Given the description of an element on the screen output the (x, y) to click on. 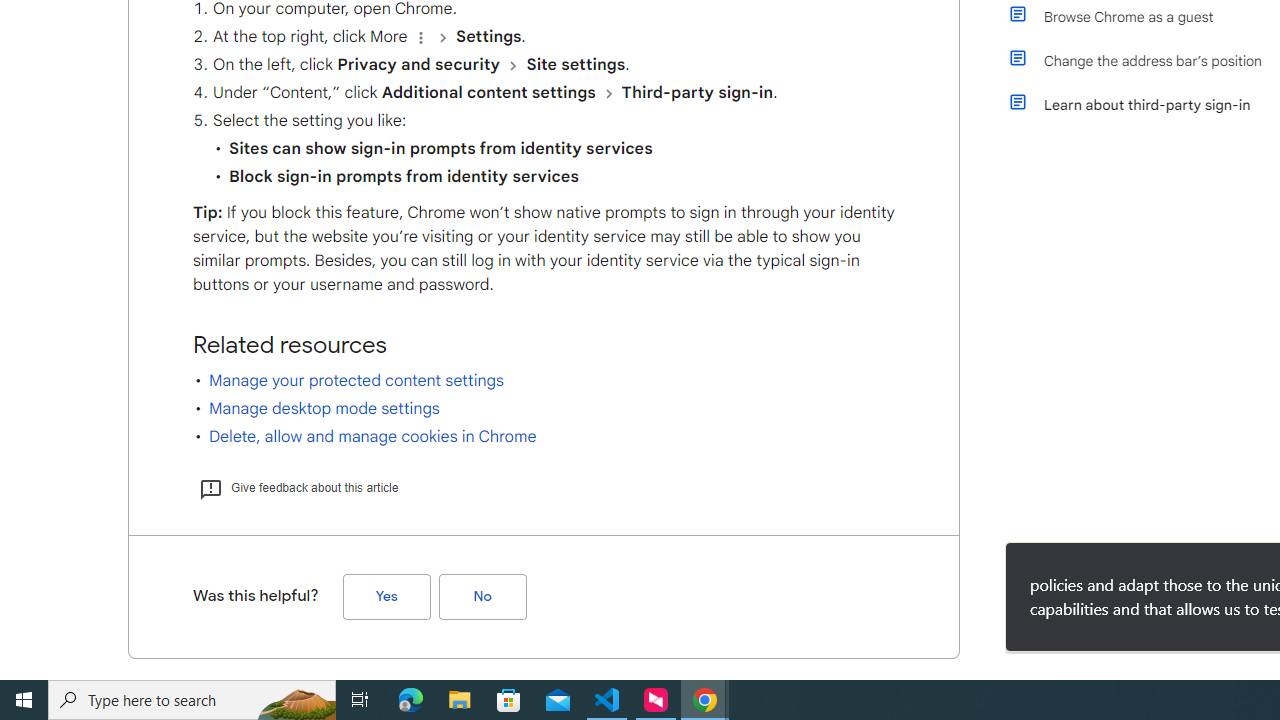
Manage desktop mode settings (324, 408)
Manage your protected content settings (356, 380)
Delete, allow and manage cookies in Chrome (372, 436)
Organize (420, 37)
and then (608, 93)
Give feedback about this article (298, 487)
No (Was this helpful?) (482, 596)
Yes (Was this helpful?) (386, 596)
